Given the description of an element on the screen output the (x, y) to click on. 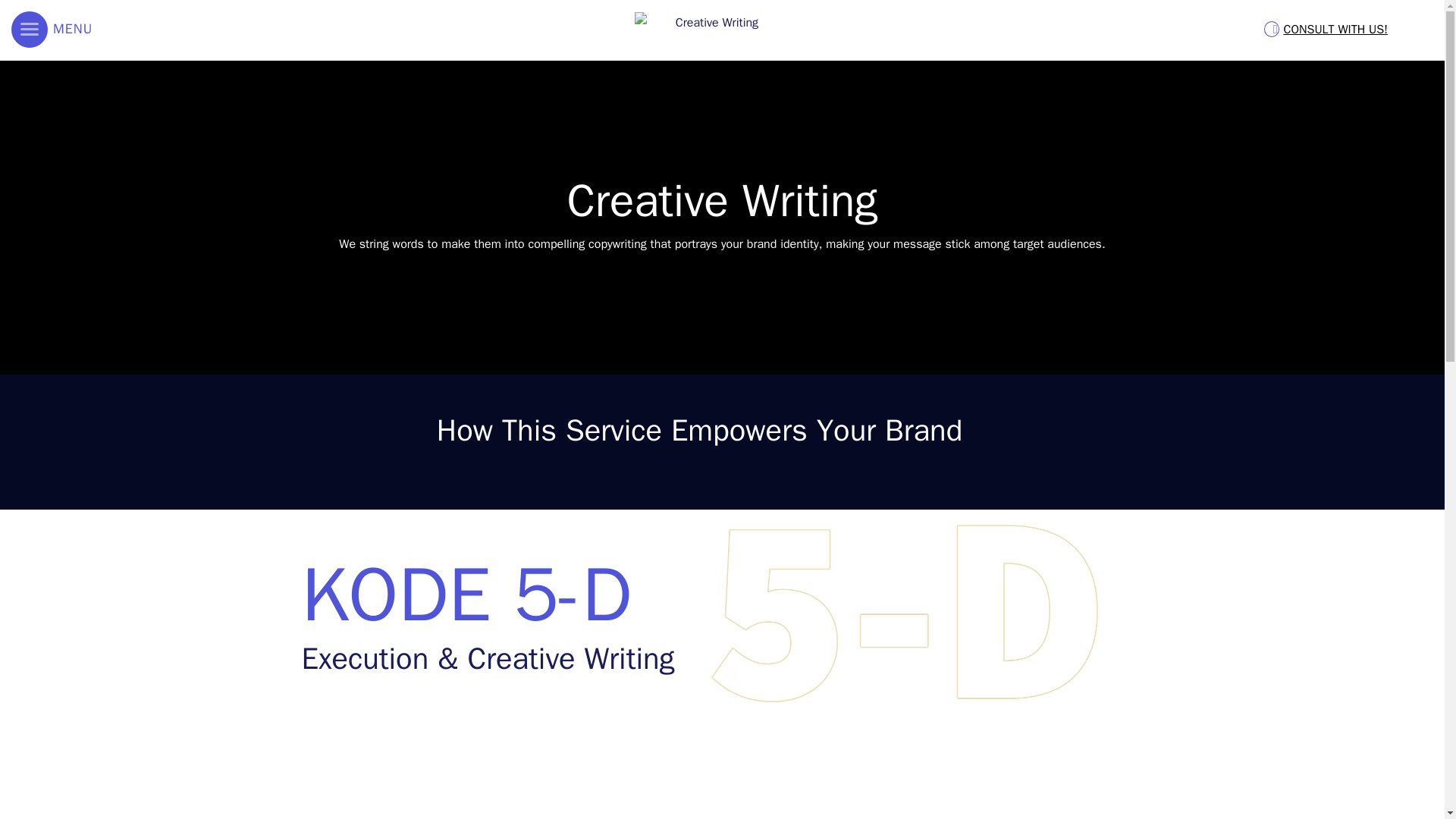
CONSULT WITH US! (1325, 29)
Kode Digital Sdn Bhd (710, 29)
